Given the description of an element on the screen output the (x, y) to click on. 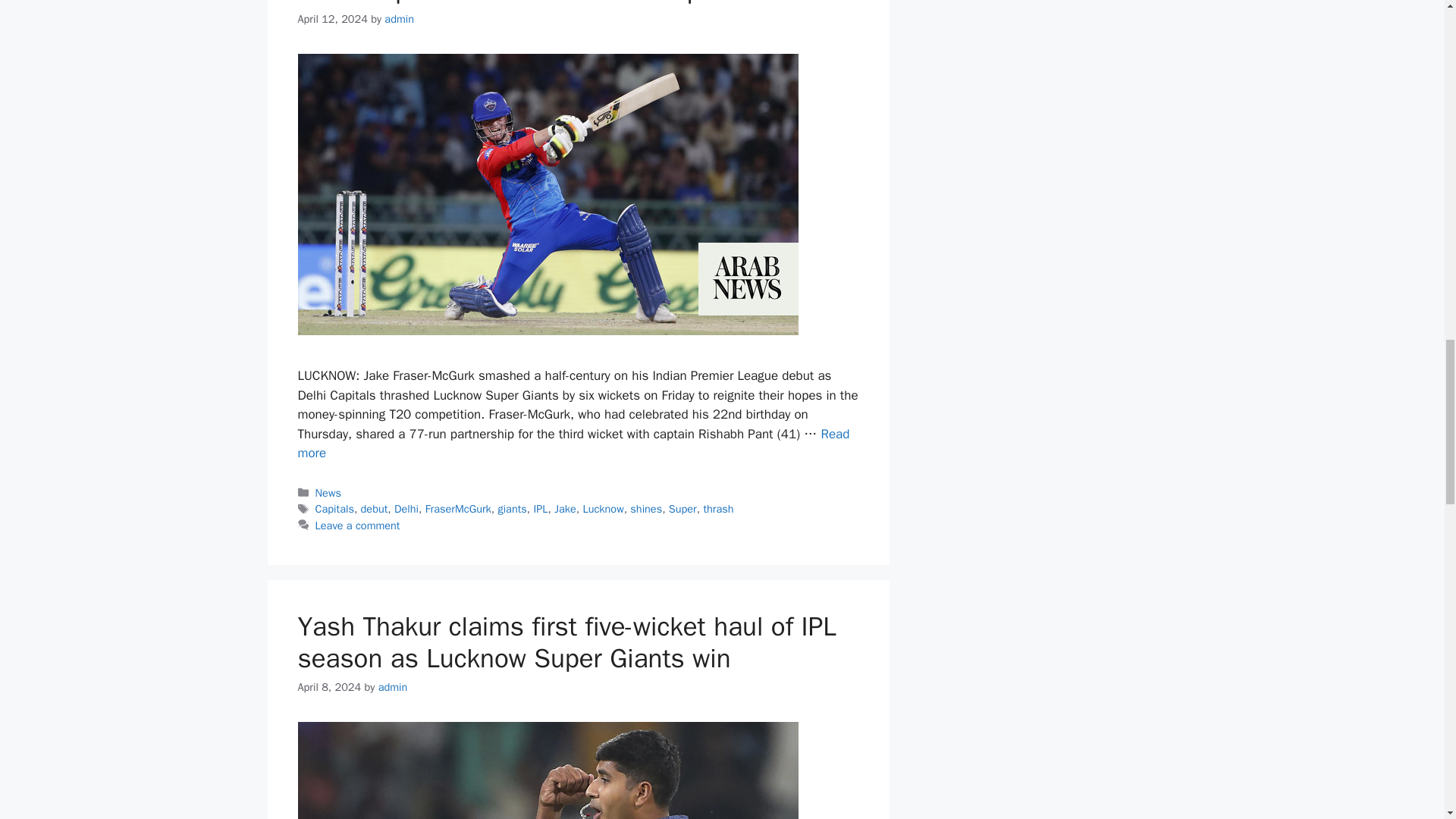
View all posts by admin (392, 686)
View all posts by admin (398, 18)
